Given the description of an element on the screen output the (x, y) to click on. 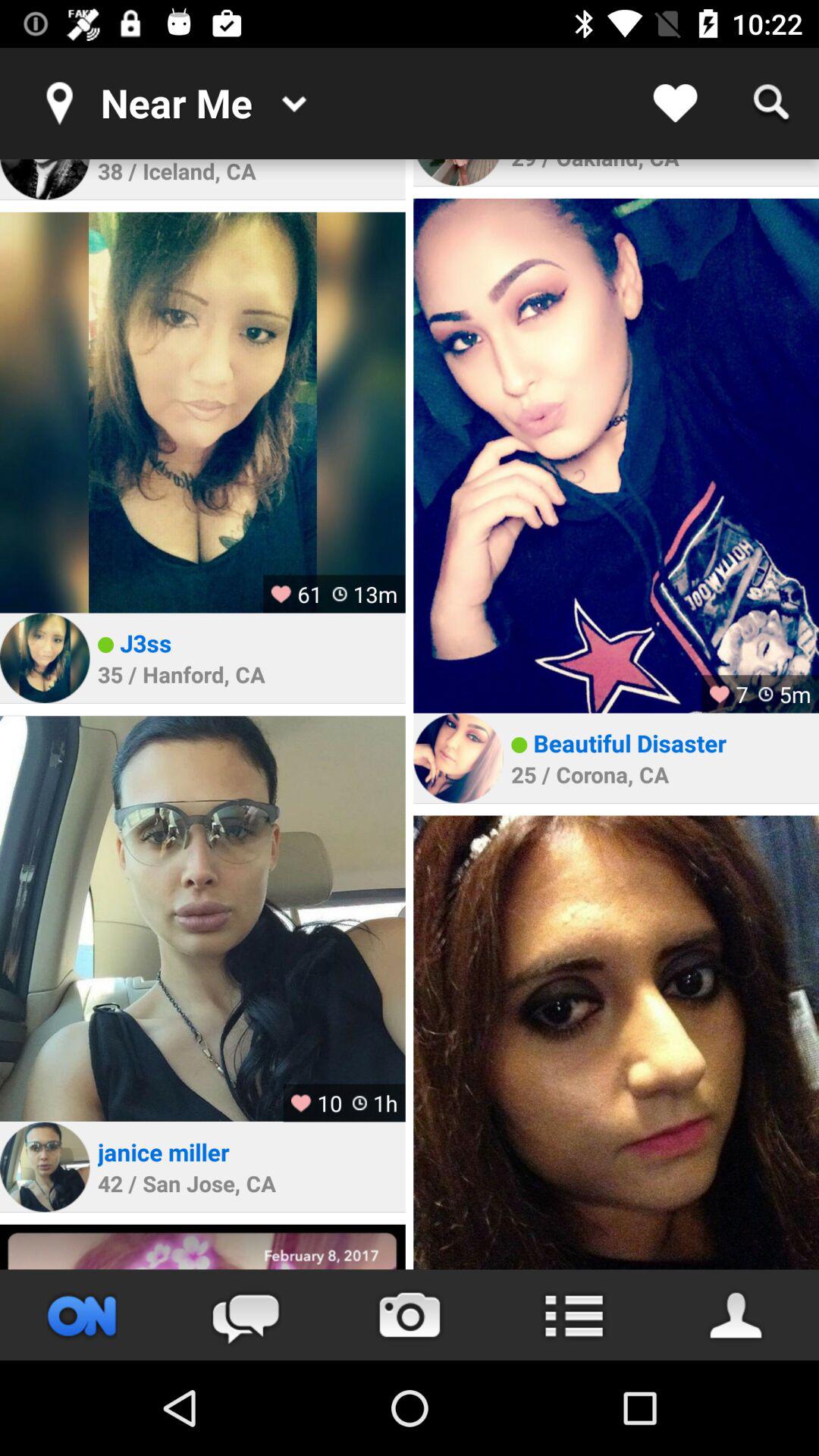
messages (245, 1315)
